Given the description of an element on the screen output the (x, y) to click on. 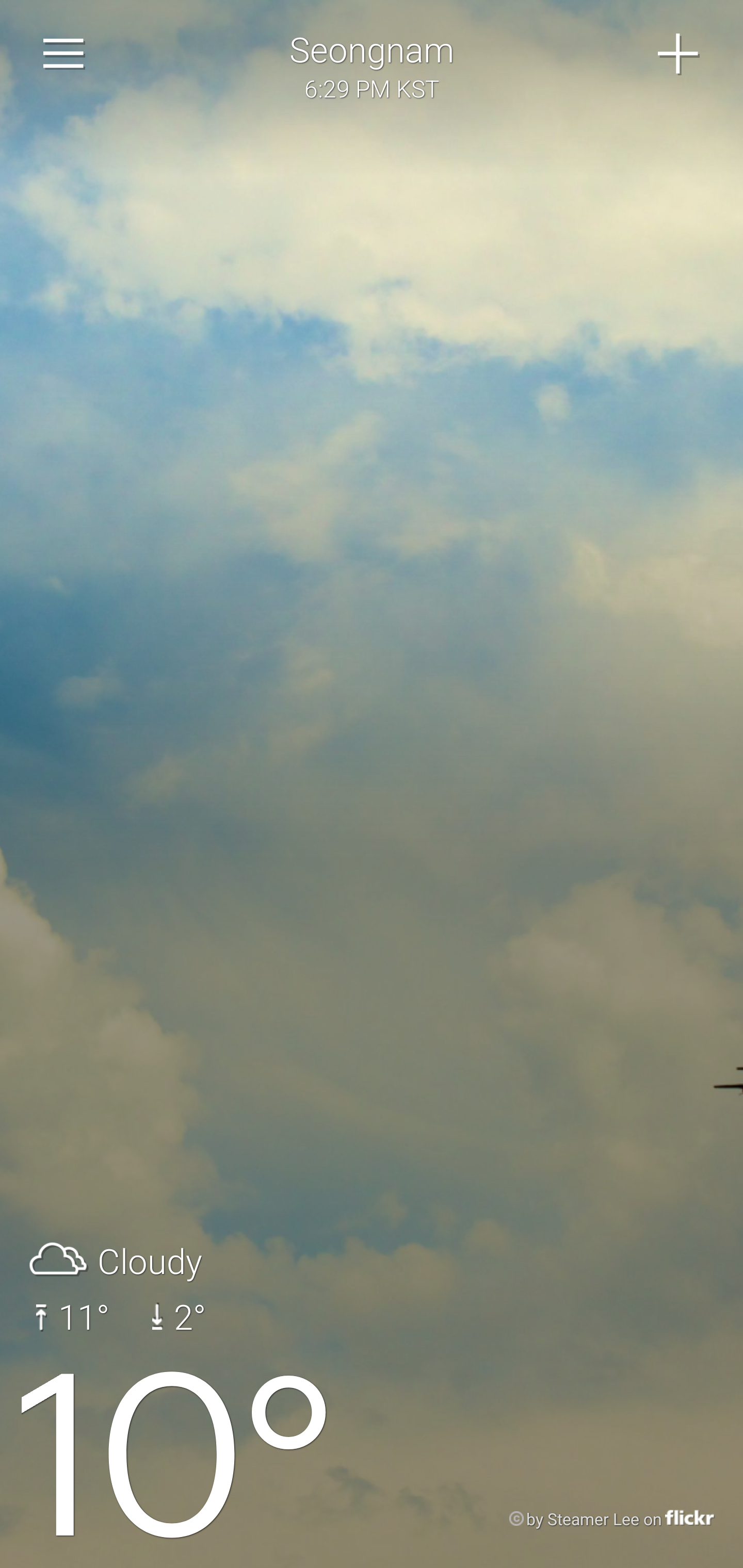
Sidebar (64, 54)
Add City (678, 53)
